Given the description of an element on the screen output the (x, y) to click on. 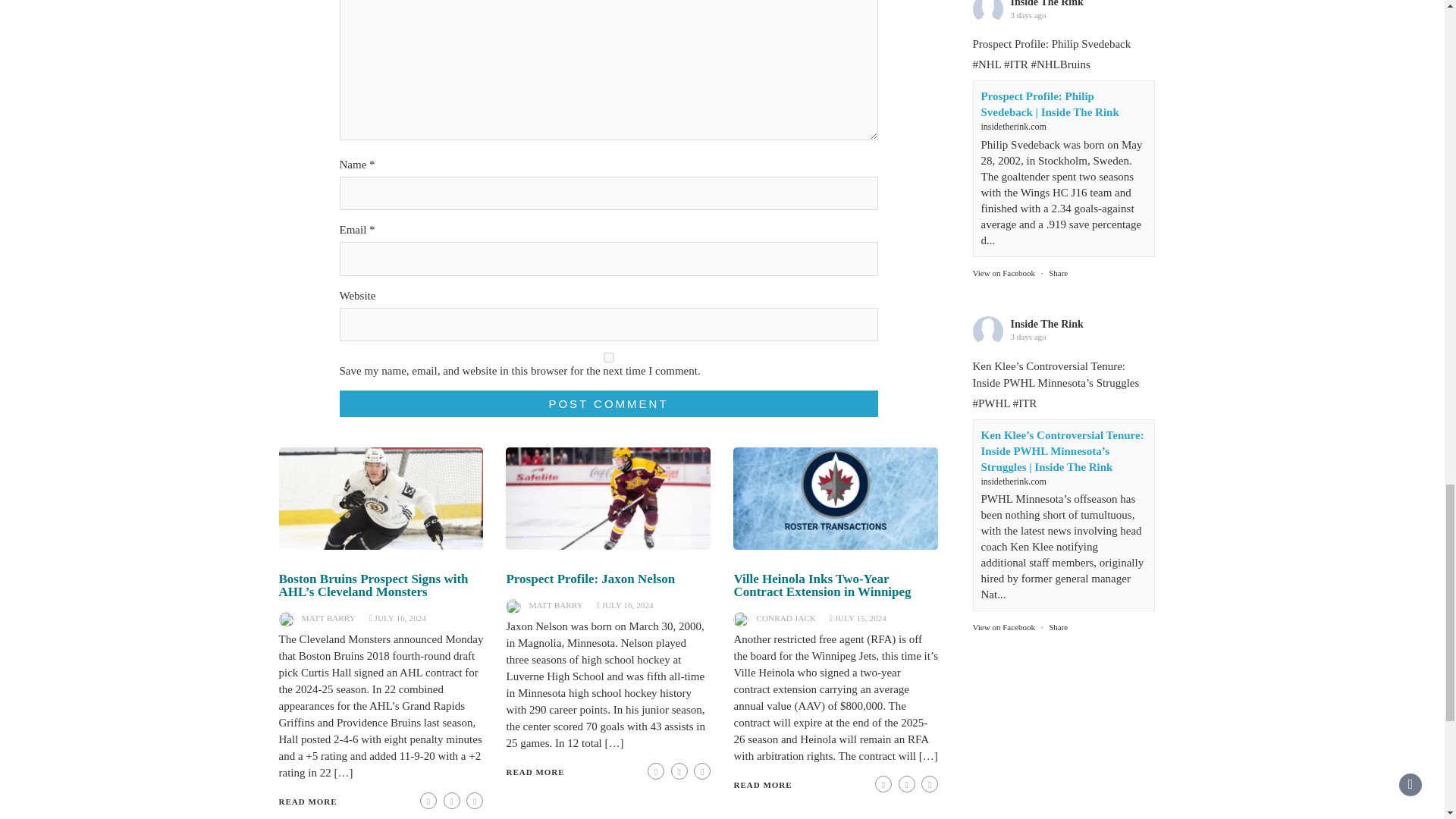
View on Facebook (1002, 240)
Likebox Iframe (1063, 693)
View on Facebook (1002, 594)
Share (1057, 240)
Share (1057, 594)
yes (608, 357)
Post Comment (608, 403)
